Given the description of an element on the screen output the (x, y) to click on. 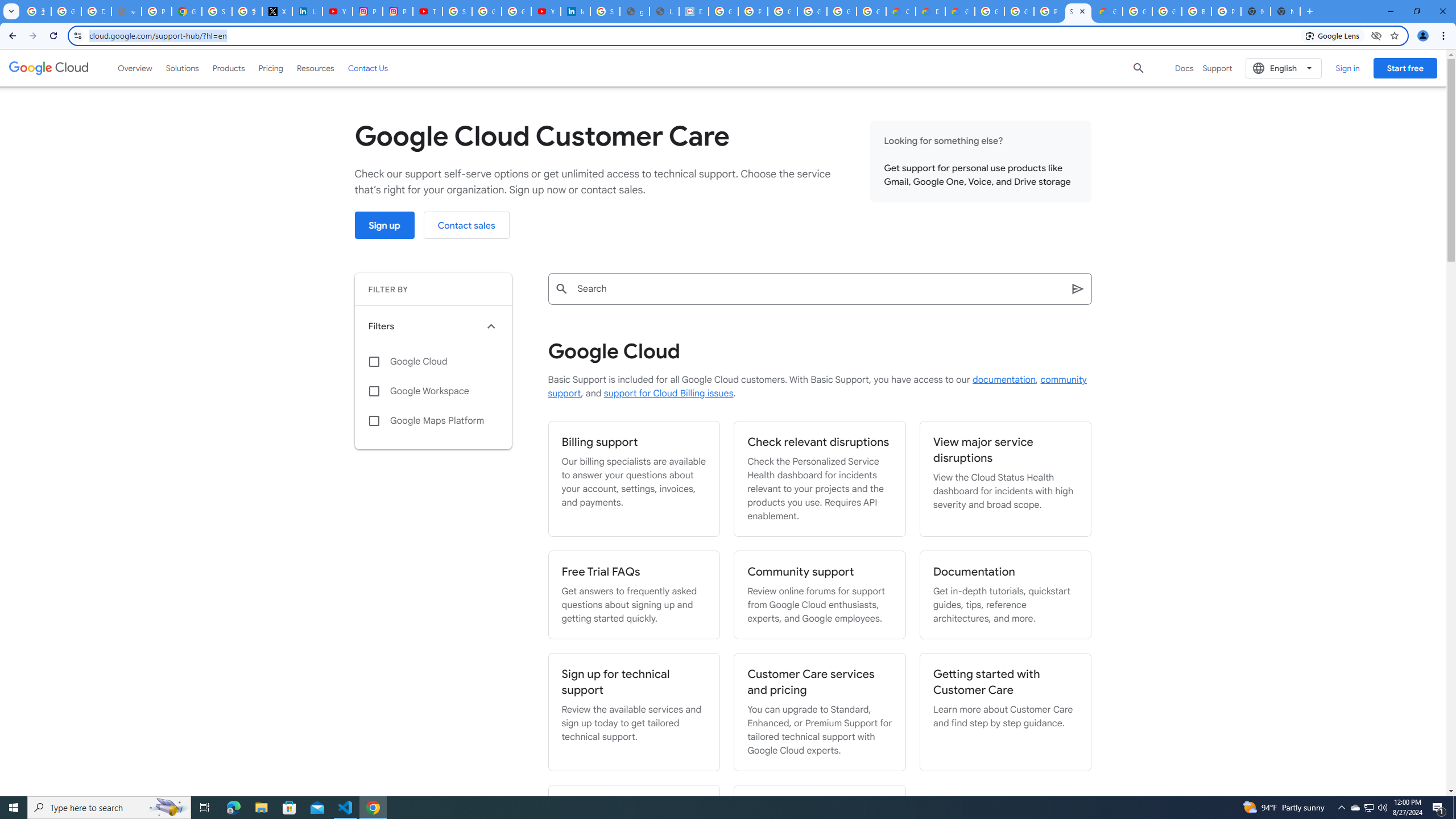
Gemini for Business and Developers | Google Cloud (959, 11)
support for Cloud Billing issues (667, 393)
Google Workspace - Specific Terms (871, 11)
google_privacy_policy_en.pdf (634, 11)
Search with Google Lens (1332, 35)
Google Cloud (432, 361)
Google Cloud Platform (1018, 11)
Contact Us (368, 67)
Support Hub | Google Cloud (1077, 11)
